Given the description of an element on the screen output the (x, y) to click on. 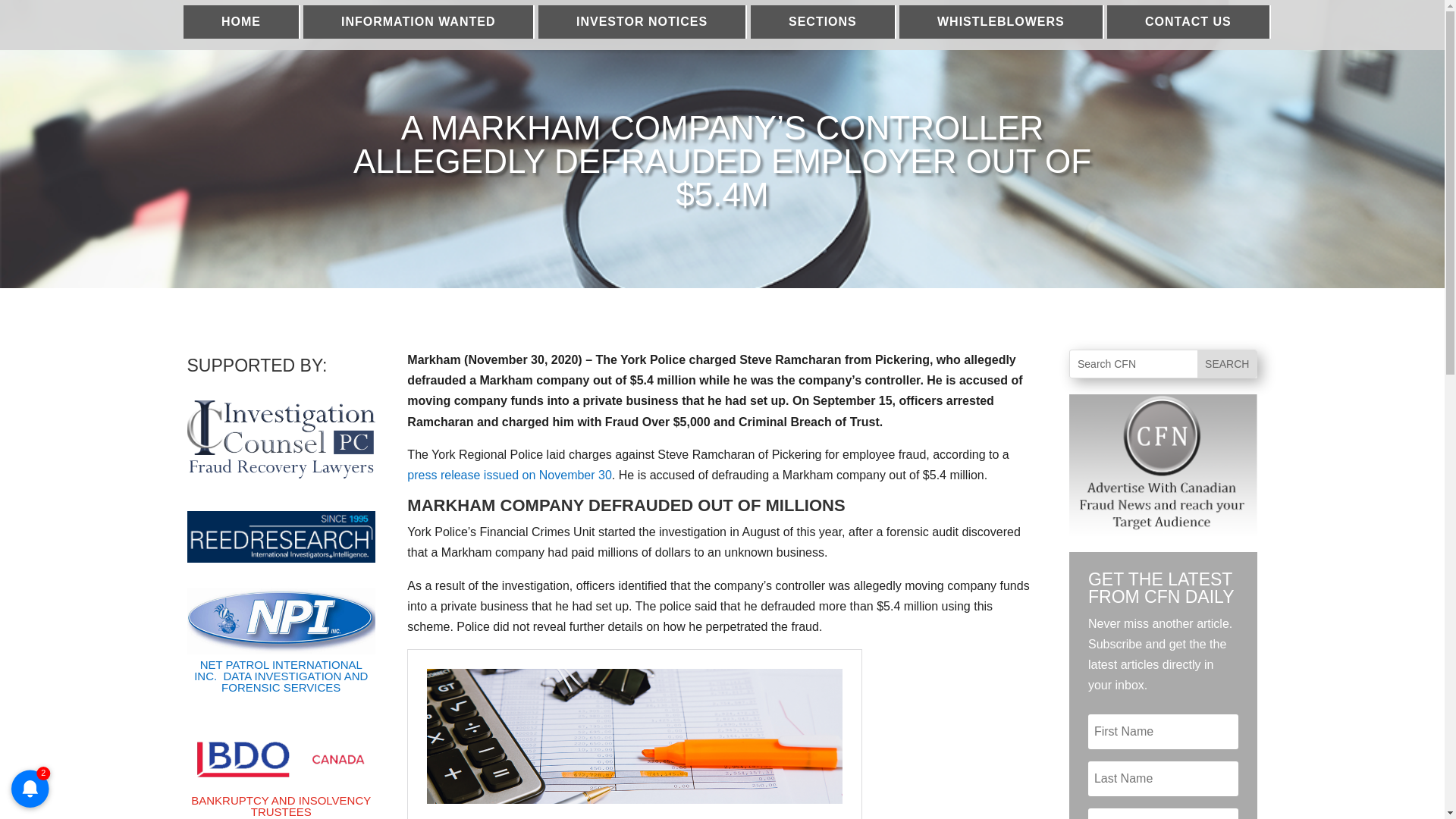
SECTIONS (823, 21)
Tom (280, 617)
FRL (280, 439)
Search (1226, 363)
CONTACT US (1188, 21)
CFNINLINE (1162, 464)
INFORMATION WANTED (418, 21)
INVESTOR NOTICES (642, 21)
WHISTLEBLOWERS (1001, 21)
Search (1226, 363)
HOME (241, 21)
bdo (280, 759)
reed (280, 536)
